Given the description of an element on the screen output the (x, y) to click on. 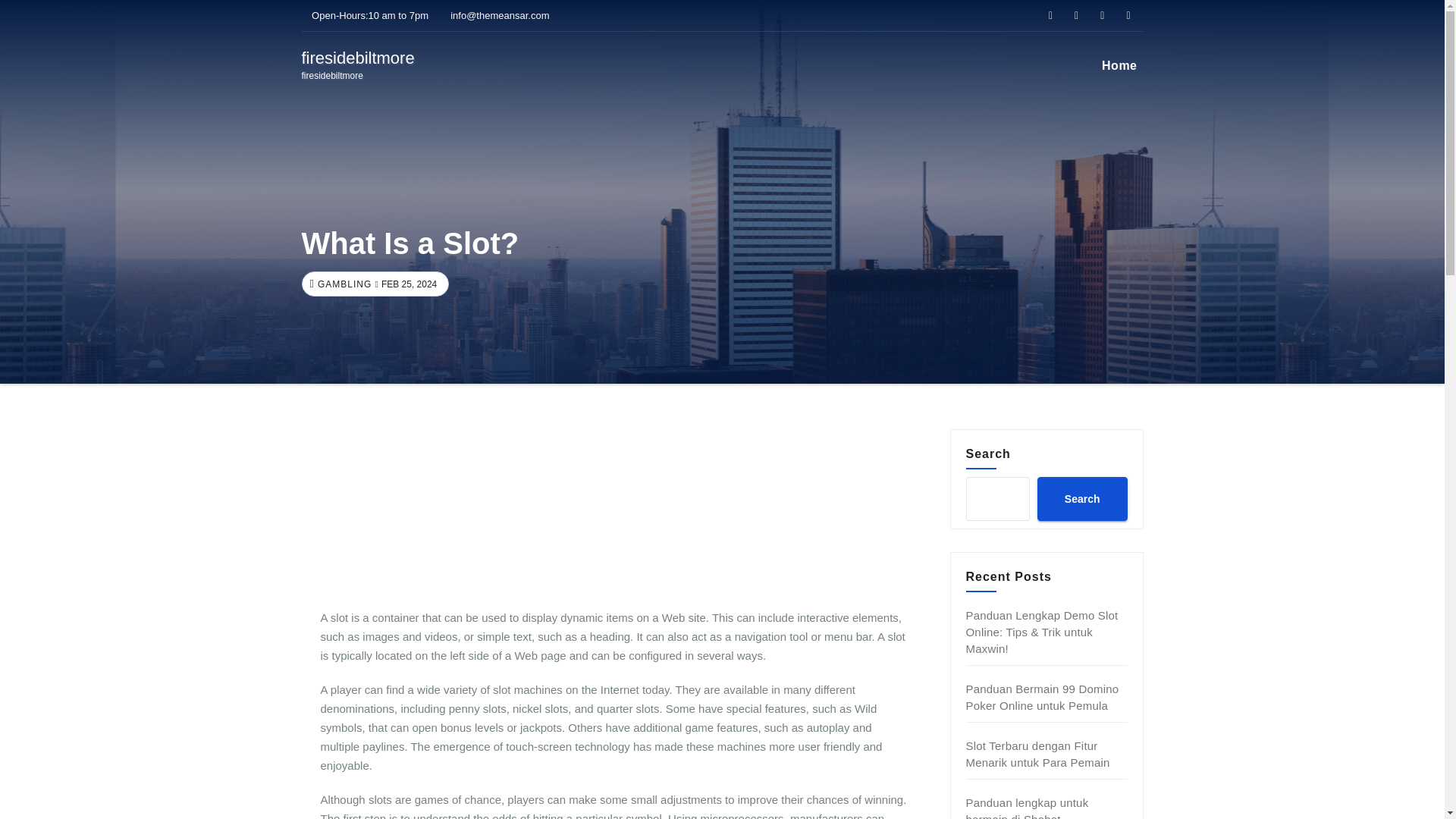
Home (1119, 65)
GAMBLING (342, 284)
Home (1119, 65)
Slot Terbaru dengan Fitur Menarik untuk Para Pemain (1037, 754)
Panduan lengkap untuk bermain di Sbobet (1027, 807)
Search (357, 65)
Open-Hours:10 am to 7pm (1081, 498)
Panduan Bermain 99 Domino Poker Online untuk Pemula (365, 15)
